Given the description of an element on the screen output the (x, y) to click on. 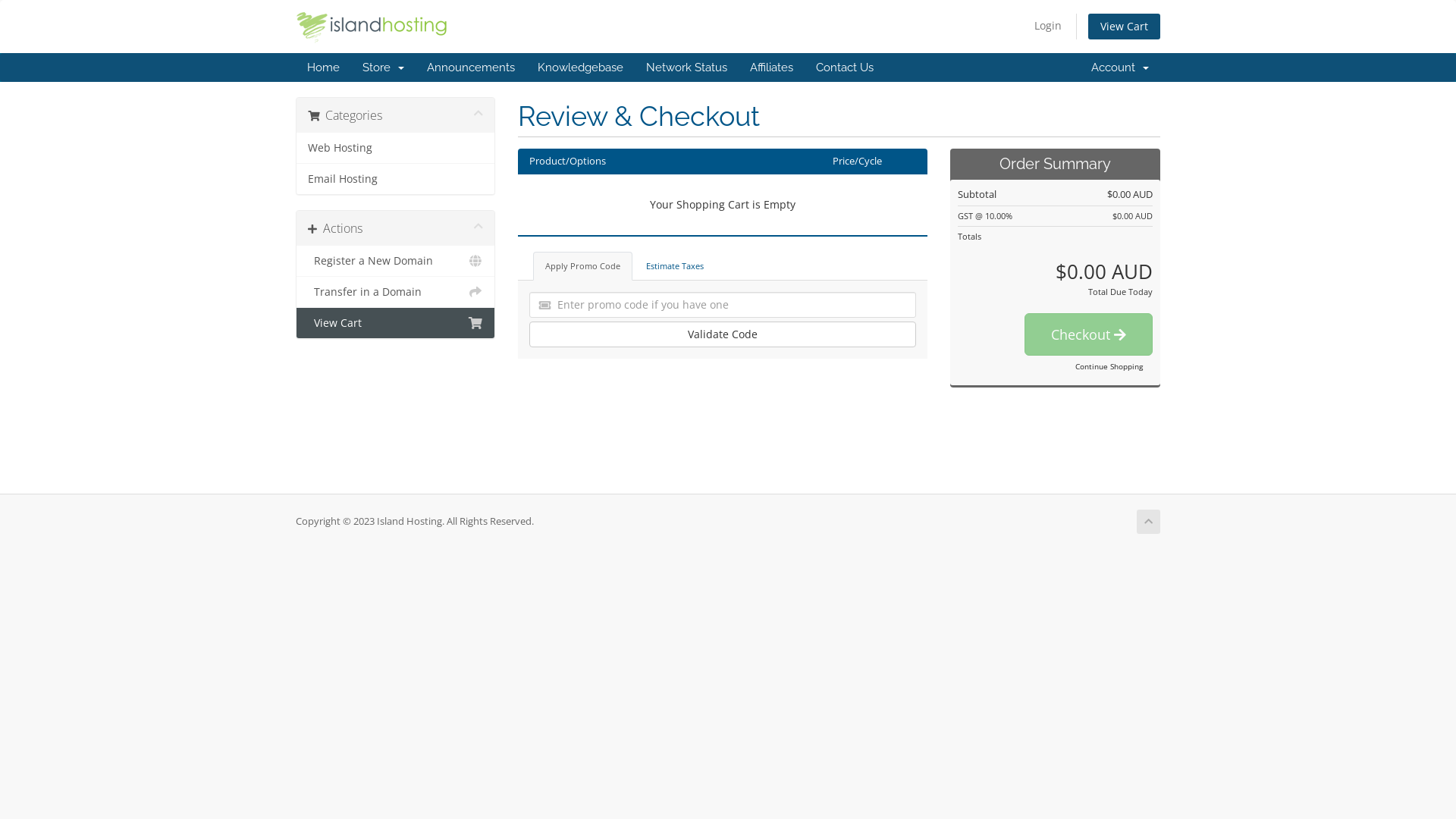
Announcements Element type: text (470, 67)
Continue Shopping Element type: text (1108, 365)
Estimate Taxes Element type: text (674, 265)
Store   Element type: text (383, 67)
Email Hosting Element type: text (395, 178)
Knowledgebase Element type: text (580, 67)
Checkout Element type: text (1088, 334)
Affiliates Element type: text (771, 67)
  View Cart Element type: text (395, 322)
Login Element type: text (1047, 25)
Account   Element type: text (1119, 67)
Validate Code Element type: text (722, 334)
  Register a New Domain Element type: text (395, 260)
View Cart Element type: text (1124, 26)
  Transfer in a Domain Element type: text (395, 291)
Contact Us Element type: text (844, 67)
Home Element type: text (323, 67)
Web Hosting Element type: text (395, 147)
Apply Promo Code Element type: text (581, 265)
Network Status Element type: text (686, 67)
